Given the description of an element on the screen output the (x, y) to click on. 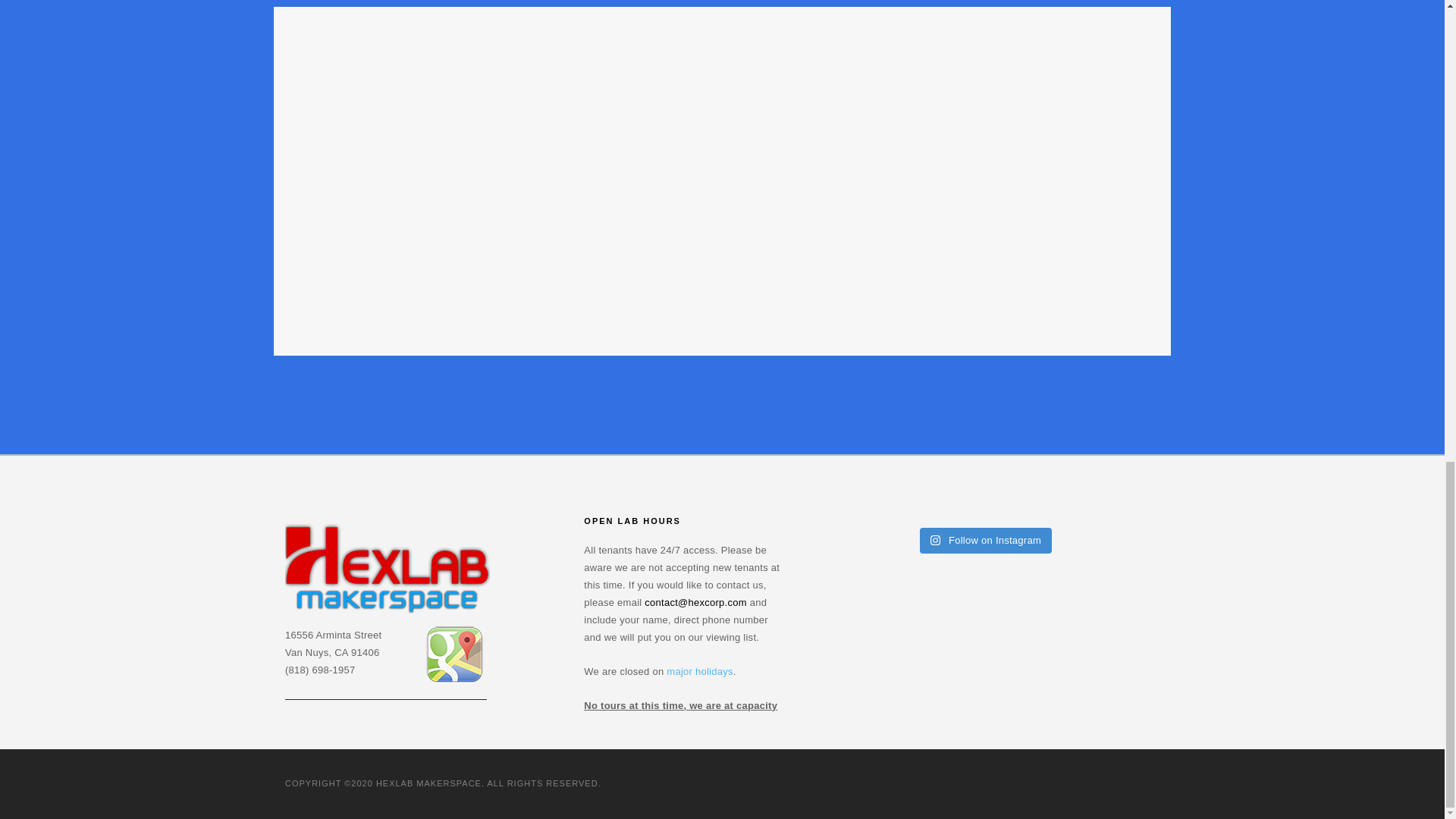
Holiday Schedule (699, 670)
Follow on Instagram (985, 540)
major holidays (699, 670)
HexLab on Google Maps (454, 654)
